Given the description of an element on the screen output the (x, y) to click on. 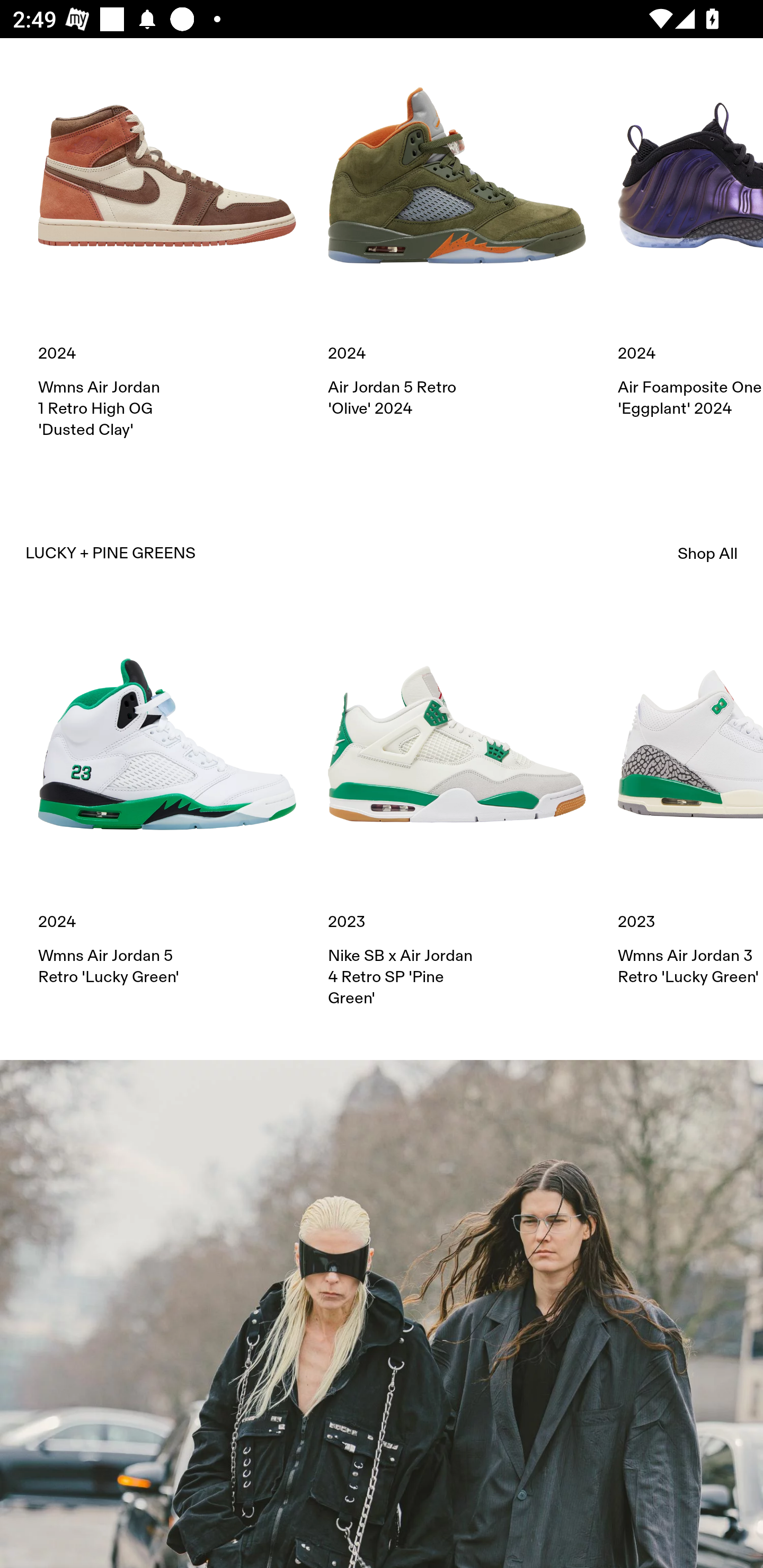
2024 Wmns Air Jordan 1 Retro High OG 'Dusted Clay' (167, 243)
2024 Air Jordan 5 Retro 'Olive' 2024 (456, 233)
2024 Air Foamposite One 'Eggplant' 2024 (690, 233)
Shop All (707, 553)
2024 Wmns Air Jordan 5 Retro 'Lucky Green' (167, 800)
2023 Nike SB x Air Jordan 4 Retro SP 'Pine Green' (456, 811)
2023 Wmns Air Jordan 3 Retro 'Lucky Green' (690, 800)
